Given the description of an element on the screen output the (x, y) to click on. 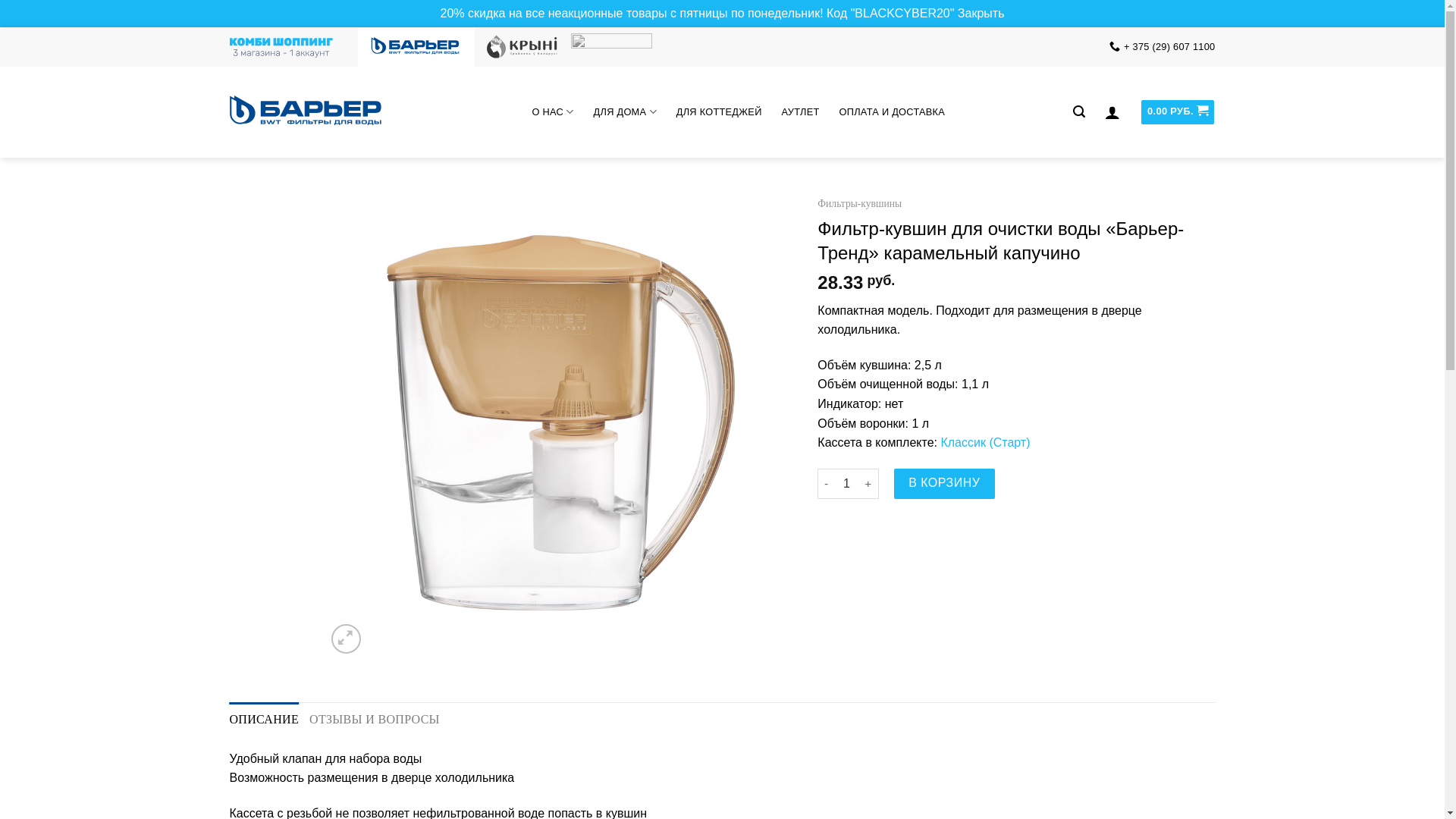
product Element type: hover (560, 422)
Skip to content Element type: text (0, 27)
product Element type: hover (1029, 422)
+ 375 (29) 607 1100 Element type: text (1162, 46)
